Given the description of an element on the screen output the (x, y) to click on. 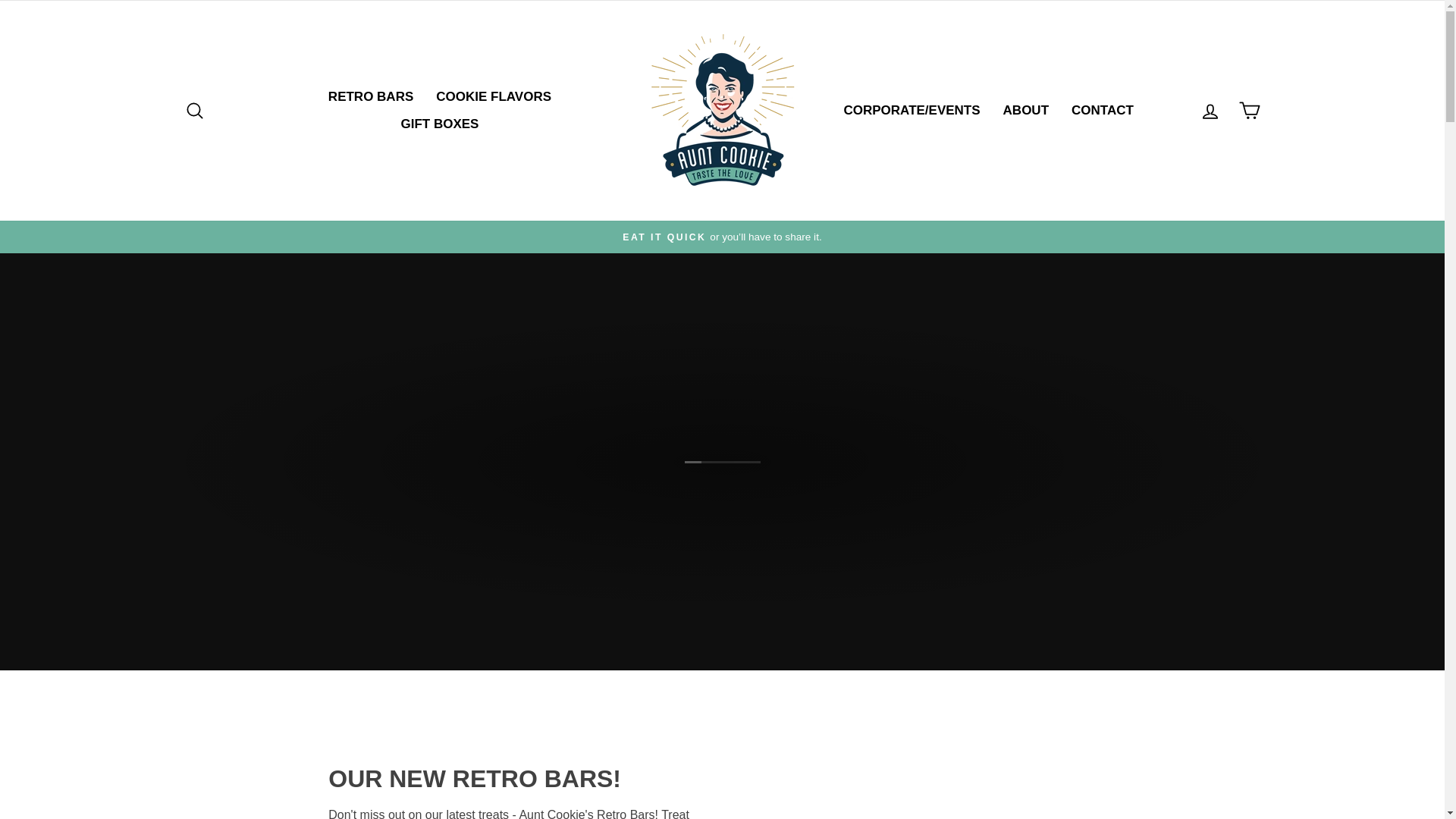
COOKIE FLAVORS (493, 97)
CART (1249, 110)
GIFT BOXES (438, 123)
SEARCH (194, 110)
CONTACT (1101, 110)
ABOUT (1025, 110)
RETRO BARS (371, 97)
LOG IN (1210, 110)
